Given the description of an element on the screen output the (x, y) to click on. 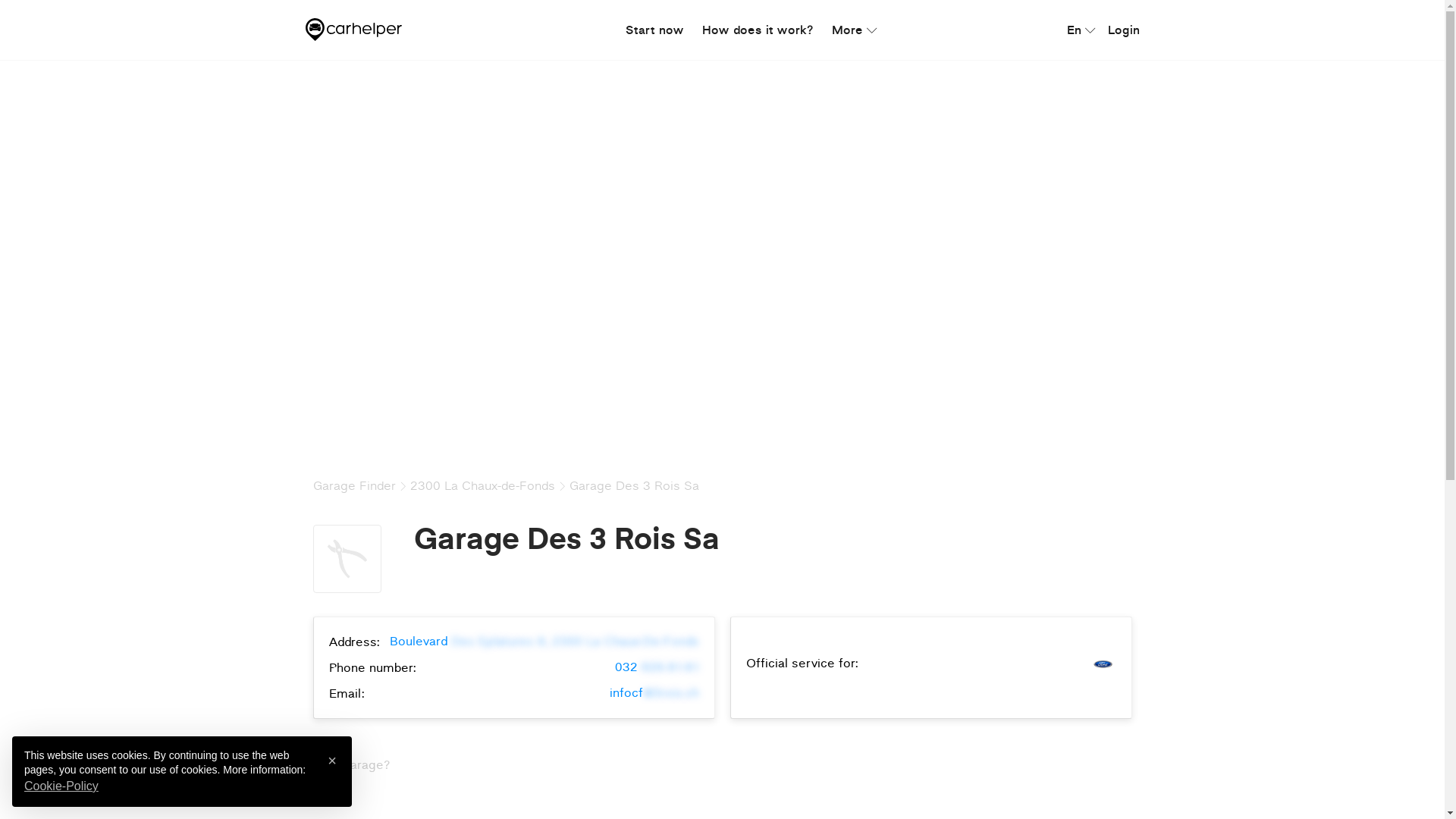
FORD Element type: hover (1102, 663)
032-926-81-81 Element type: text (656, 666)
Your garage? Element type: text (350, 764)
How does it work? Element type: text (757, 29)
En Element type: text (1076, 29)
infocf@3rois.ch Element type: text (654, 692)
Cookie-Policy Element type: text (61, 785)
Login Element type: text (1122, 29)
Garage Finder Element type: text (353, 485)
More Element type: text (851, 29)
2300 La Chaux-de-Fonds Element type: text (481, 485)
Garage Des 3 Rois Sa Element type: text (633, 485)
Start now Element type: text (654, 29)
